Given the description of an element on the screen output the (x, y) to click on. 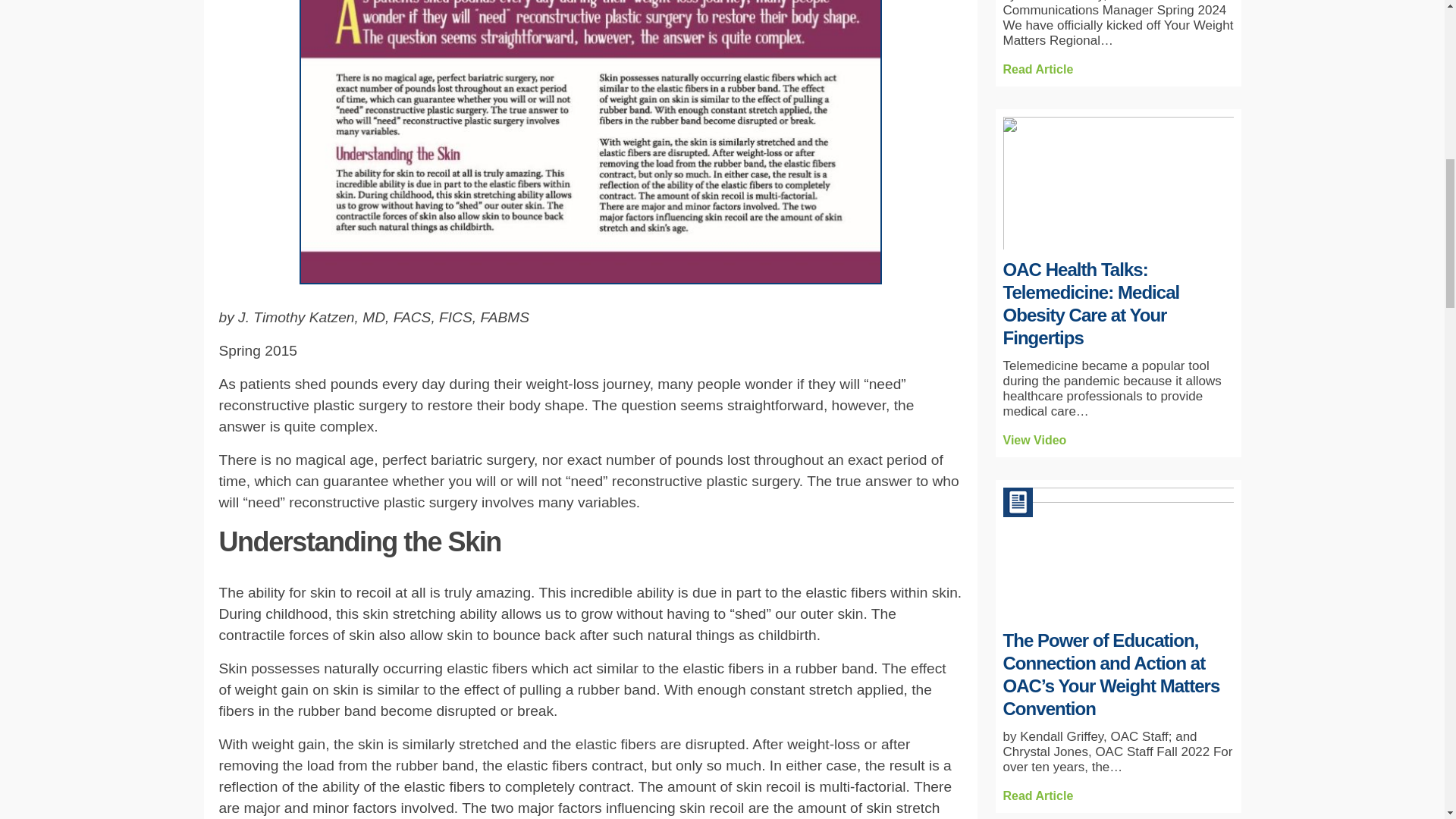
Introducing Your Weight Matters Regional (1038, 69)
